Given the description of an element on the screen output the (x, y) to click on. 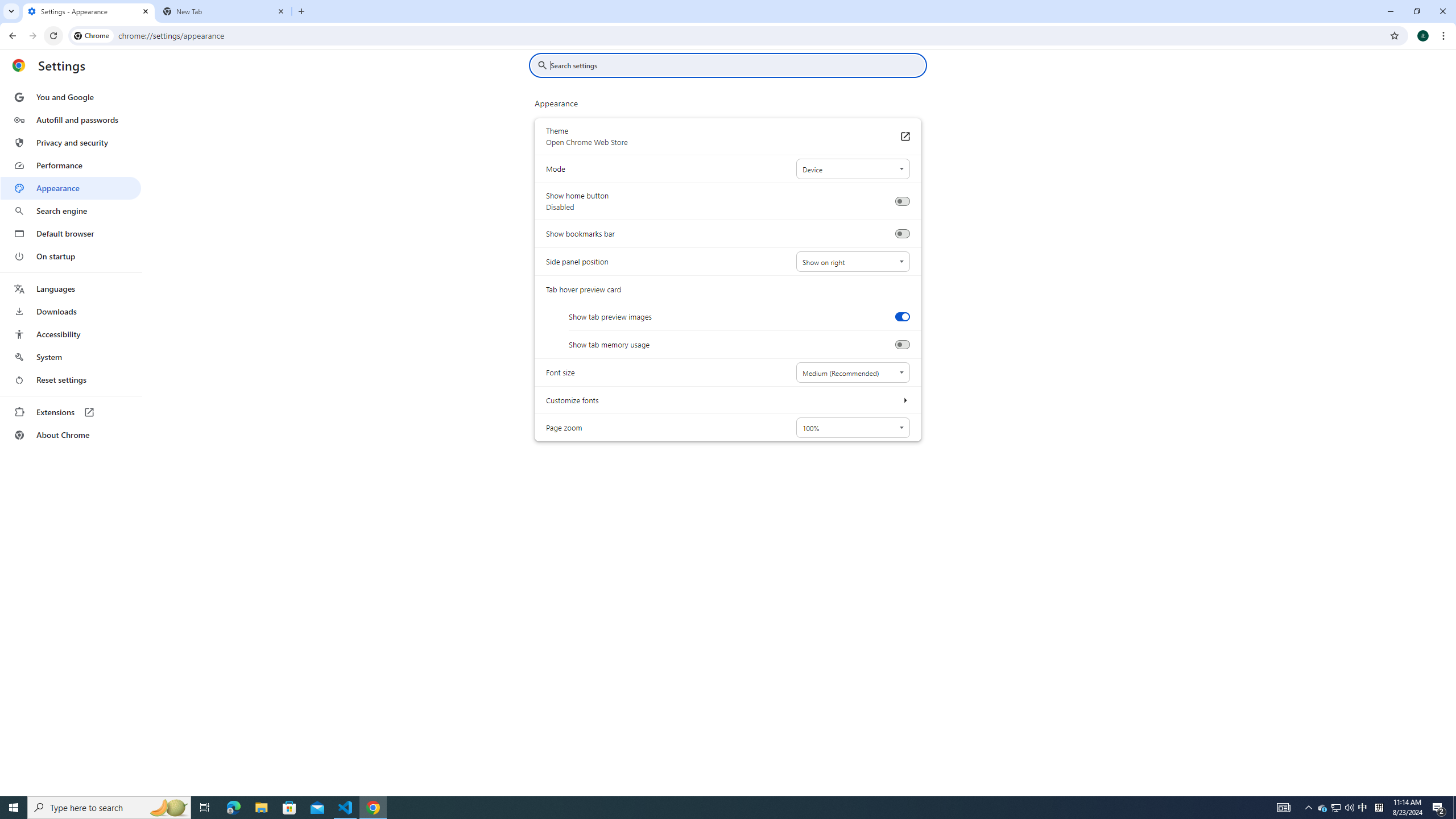
Show tab preview images (901, 316)
New Tab (224, 11)
On startup (70, 255)
Show tab memory usage (901, 344)
Show home button (901, 201)
